Given the description of an element on the screen output the (x, y) to click on. 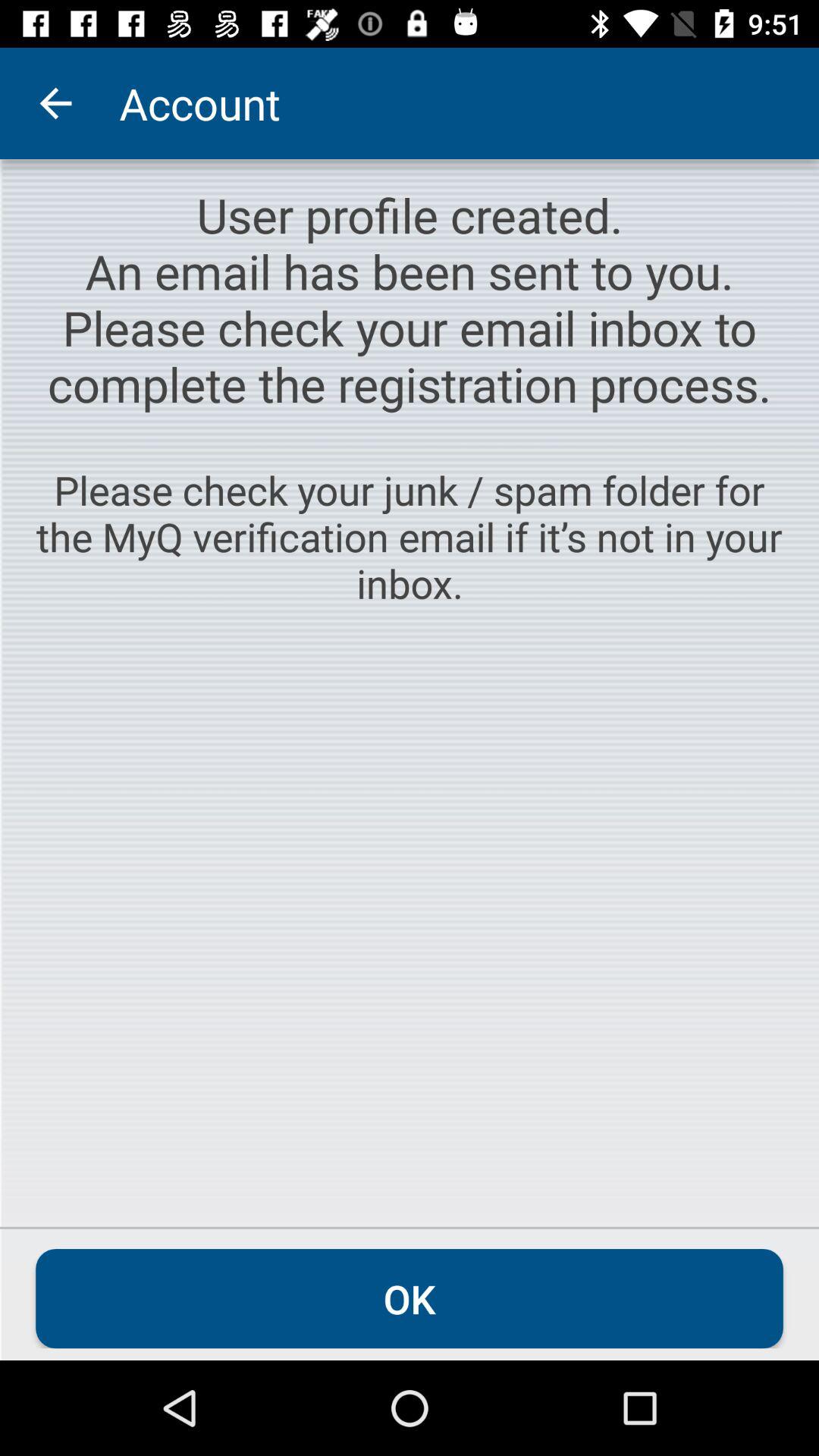
scroll until the ok item (409, 1298)
